Given the description of an element on the screen output the (x, y) to click on. 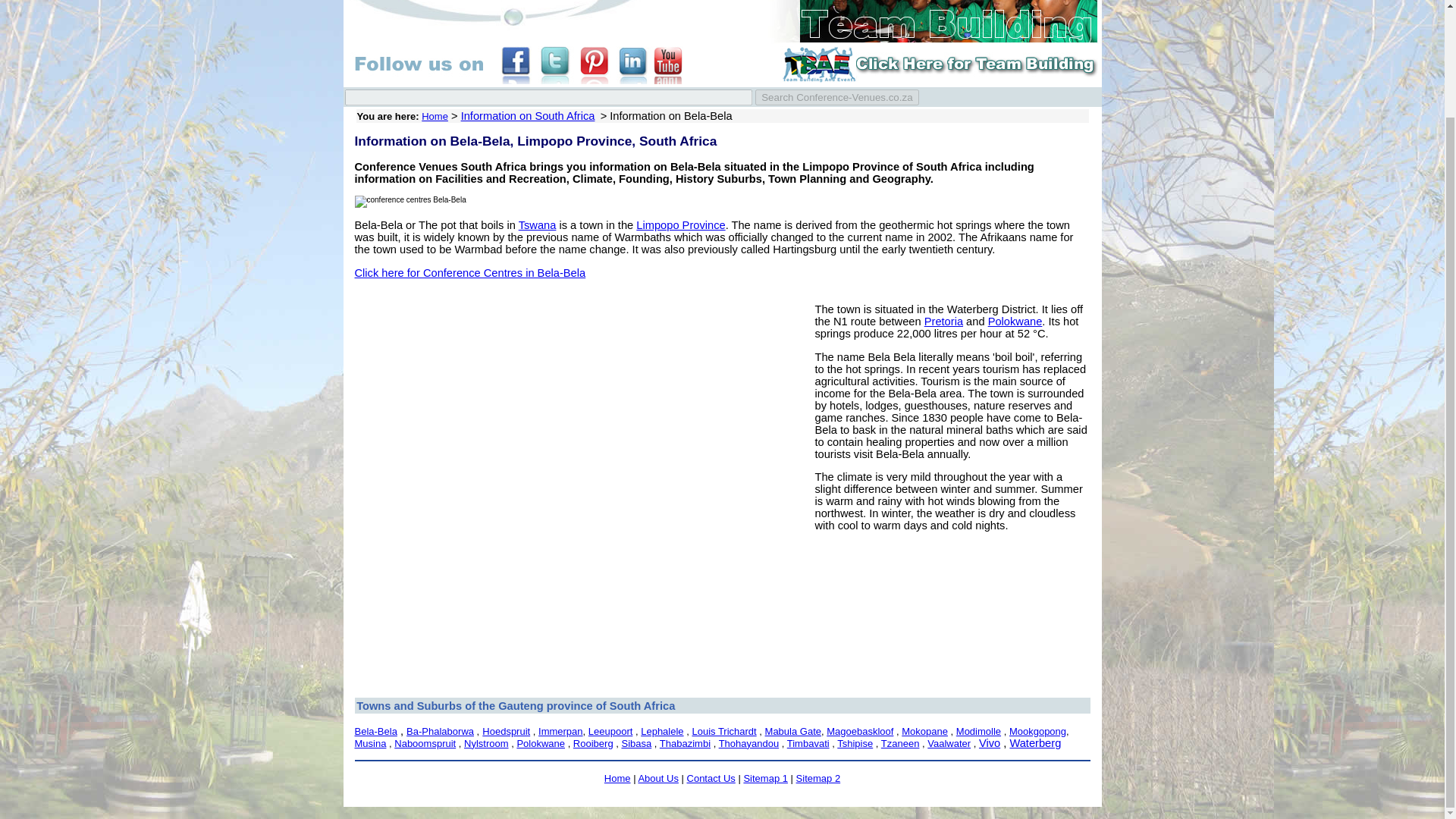
Magoebaskloof (860, 730)
Naboomspruit (424, 742)
Lephalele (661, 730)
Leeupoort (610, 730)
Mabula Gate (793, 730)
Timbavati (808, 742)
Bela-Bela (376, 730)
Limpopo Province (680, 224)
Ba-Phalaborwa (440, 730)
Search Conference-Venues.co.za (836, 97)
